Given the description of an element on the screen output the (x, y) to click on. 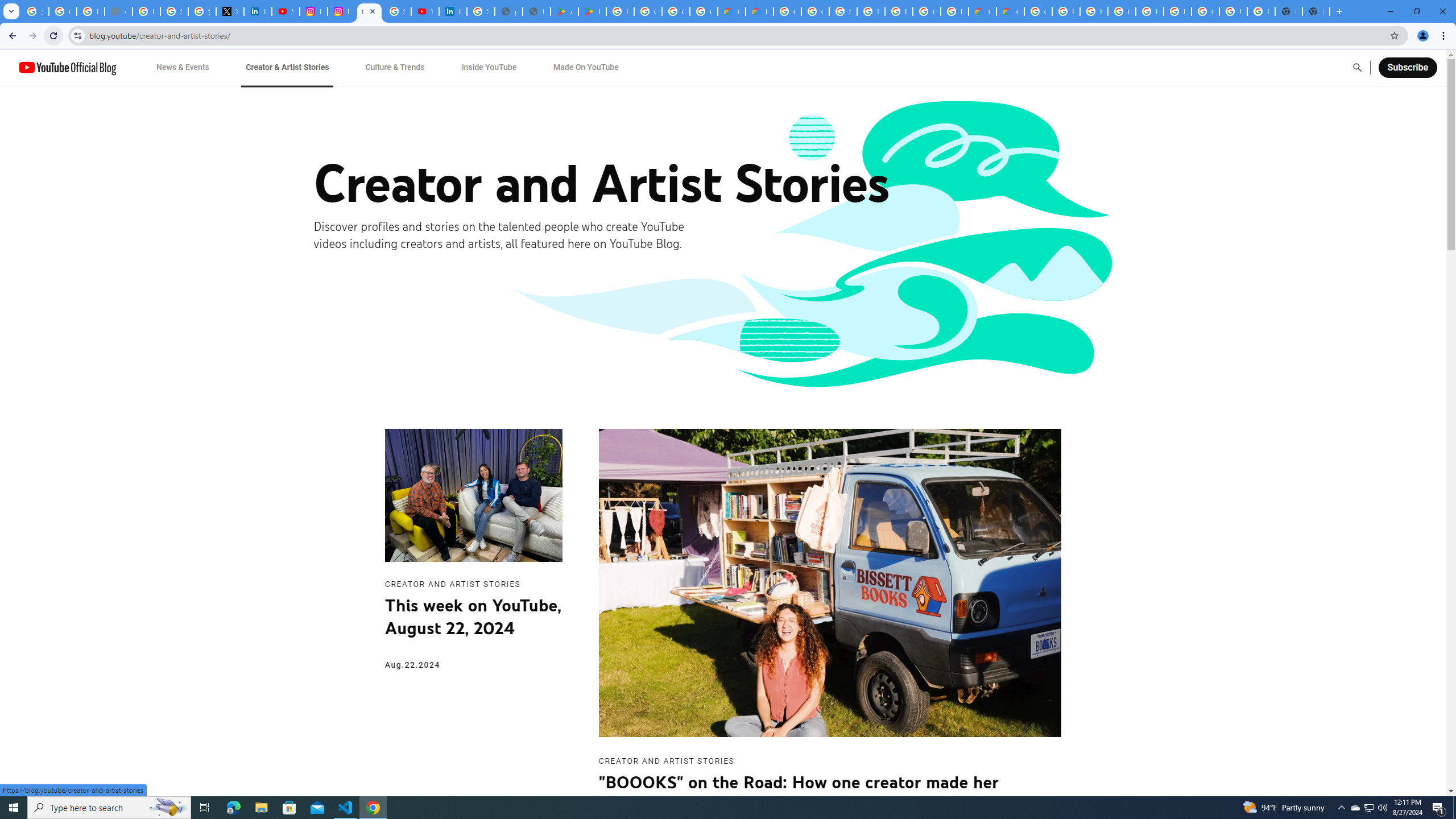
google_privacy_policy_en.pdf (508, 11)
Identity verification via Persona | LinkedIn Help (452, 11)
LinkedIn Privacy Policy (257, 11)
Google Cloud Platform (787, 11)
Subscribe (1407, 67)
Google Cloud Platform (1121, 11)
